Given the description of an element on the screen output the (x, y) to click on. 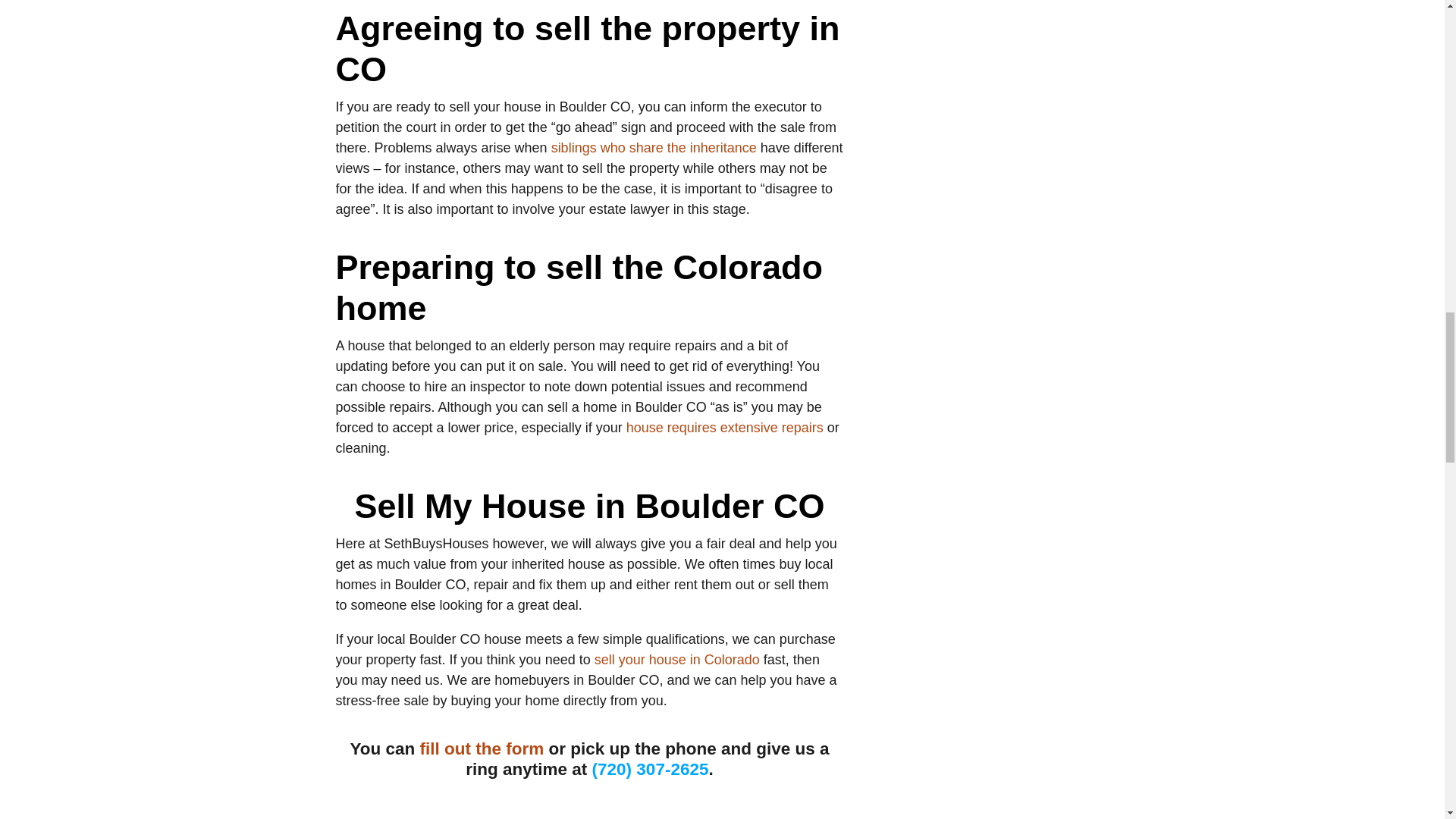
siblings who share the inheritance (654, 147)
house requires extensive repairs (725, 427)
fill out the form (482, 748)
sell your house in Colorado (677, 659)
